Given the description of an element on the screen output the (x, y) to click on. 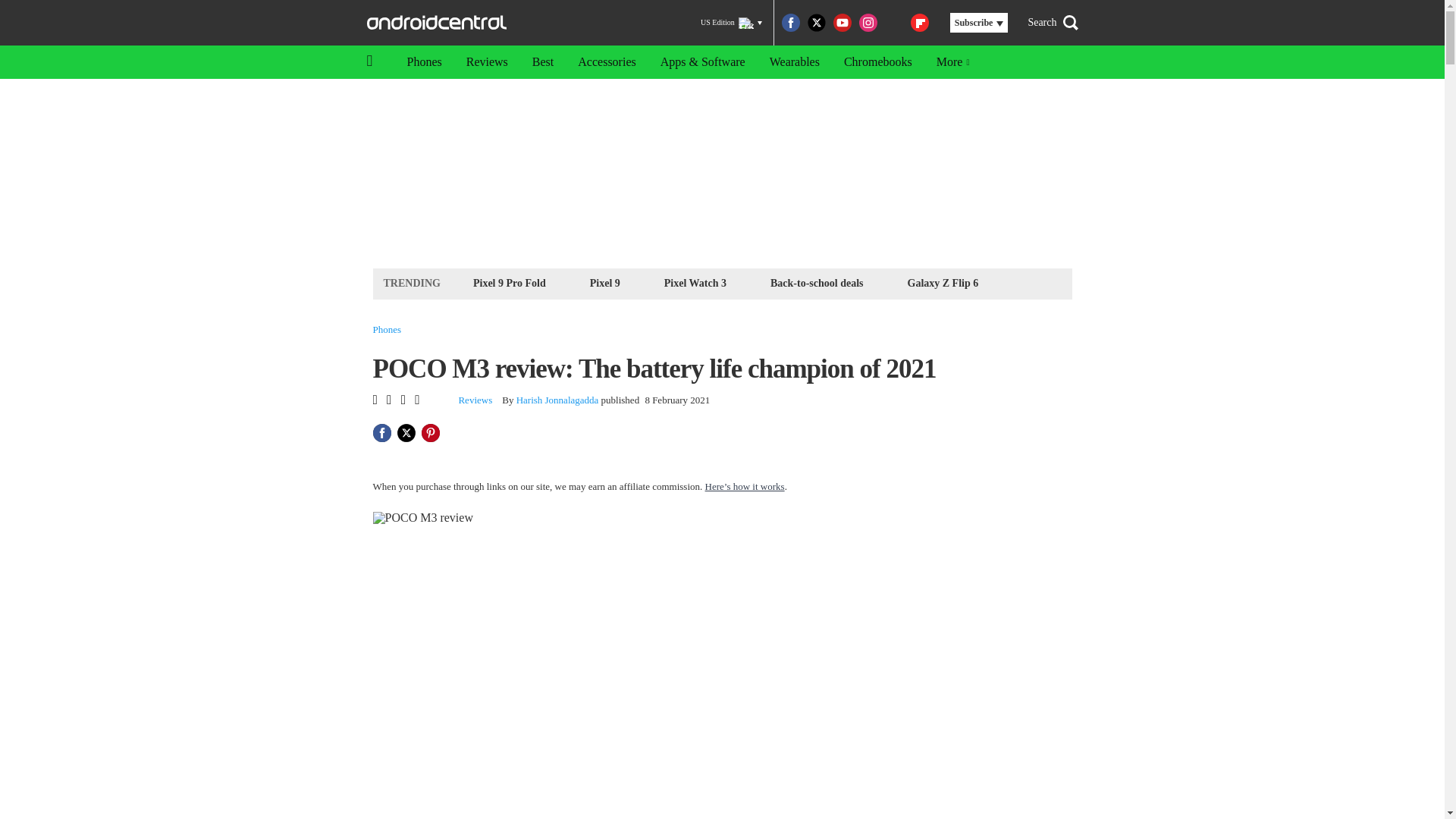
Reviews (475, 399)
Wearables (794, 61)
Galaxy Z Flip 6 (943, 282)
Harish Jonnalagadda (557, 399)
Phones (423, 61)
Pixel Watch 3 (695, 282)
US Edition (731, 22)
Accessories (606, 61)
Chromebooks (877, 61)
Best (542, 61)
